Given the description of an element on the screen output the (x, y) to click on. 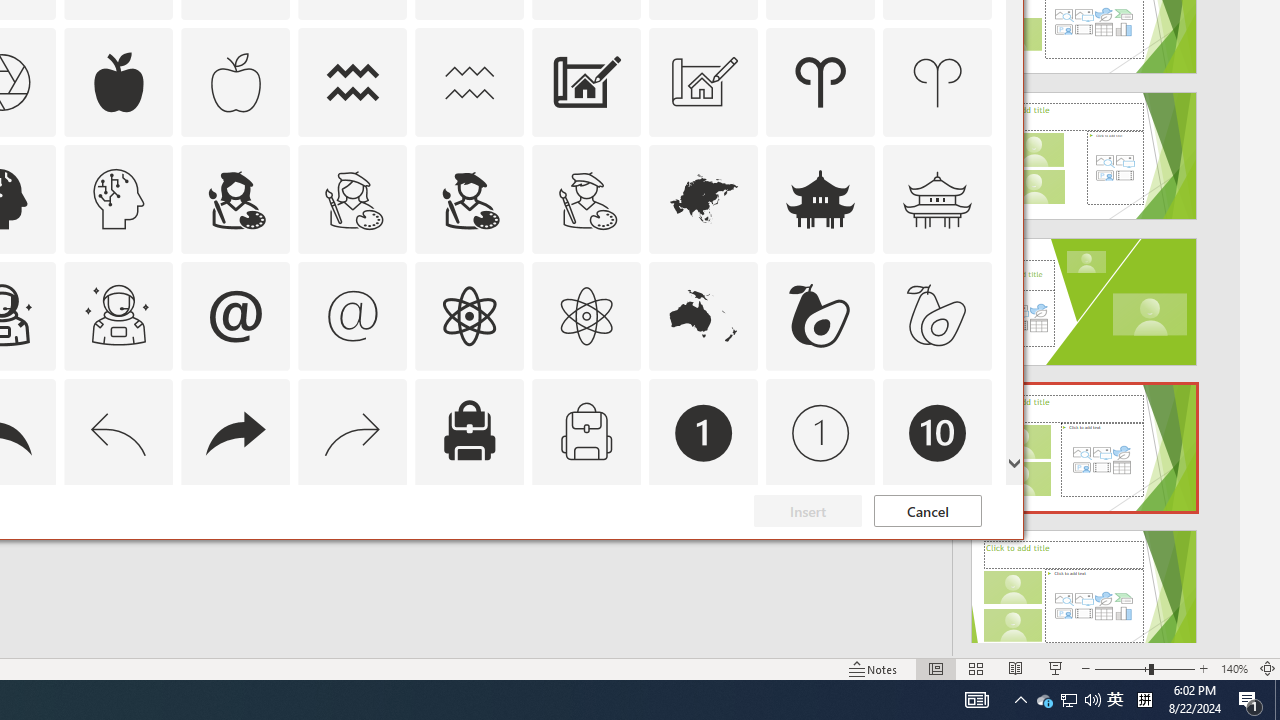
AutomationID: Icons_Aries (820, 82)
IME Mode Icon - IME is disabled (1115, 699)
AutomationID: Icons_Badge10 (938, 432)
AutomationID: Icons_ArtistFemale (235, 198)
AutomationID: Icons_ArtificialIntelligence_M (118, 198)
AutomationID: Icons_AsianTemple (820, 198)
